Given the description of an element on the screen output the (x, y) to click on. 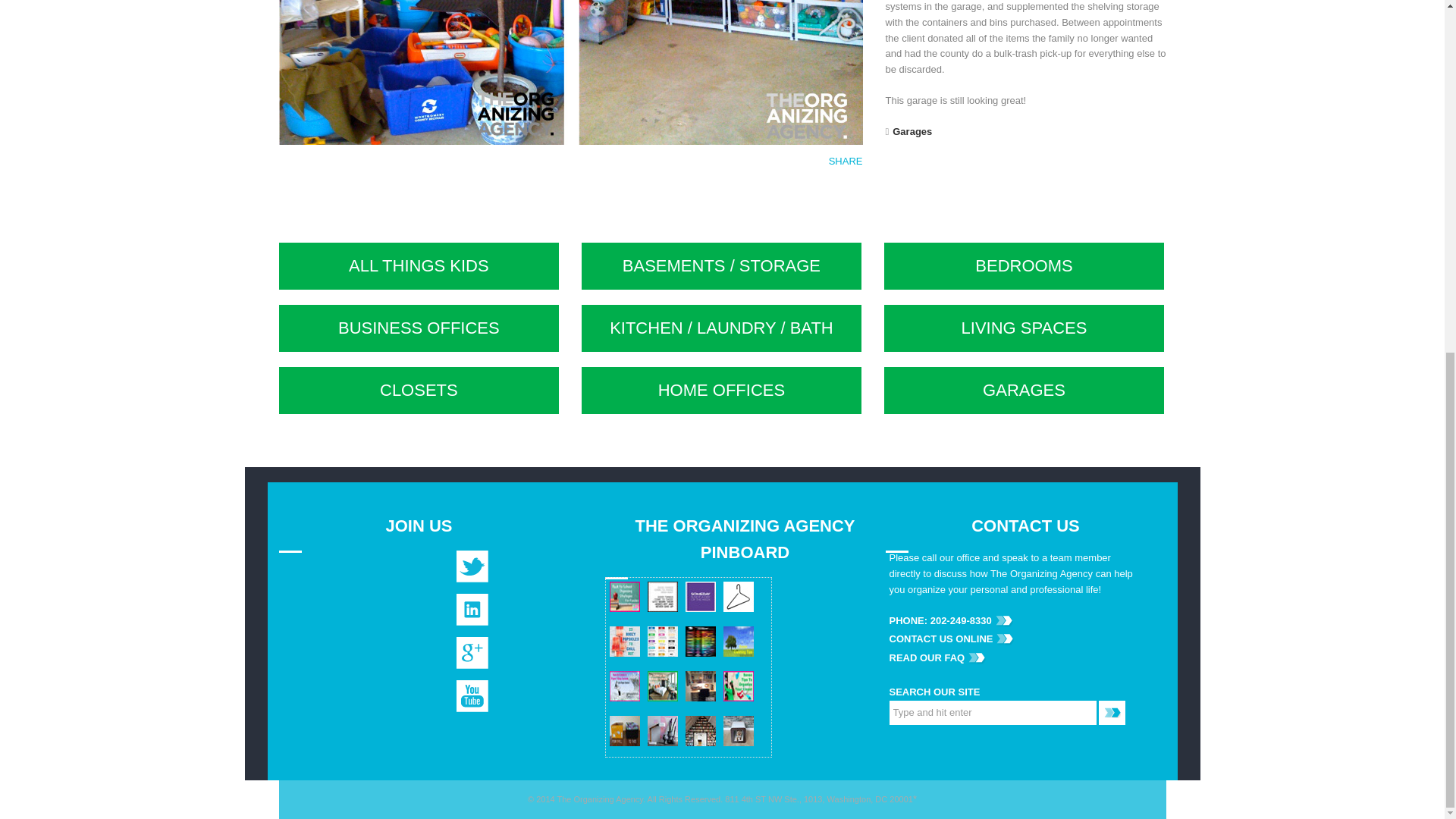
Share on Twitter (782, 194)
Home Offices (720, 390)
Share on Facebook (751, 194)
Closets (419, 390)
Business Offices (419, 328)
Garages (1023, 390)
Share on Pinterest (814, 194)
Share on LinkedIn (845, 194)
Living Spaces (1023, 328)
Bedrooms (1023, 265)
All Things Kids (419, 265)
